Given the description of an element on the screen output the (x, y) to click on. 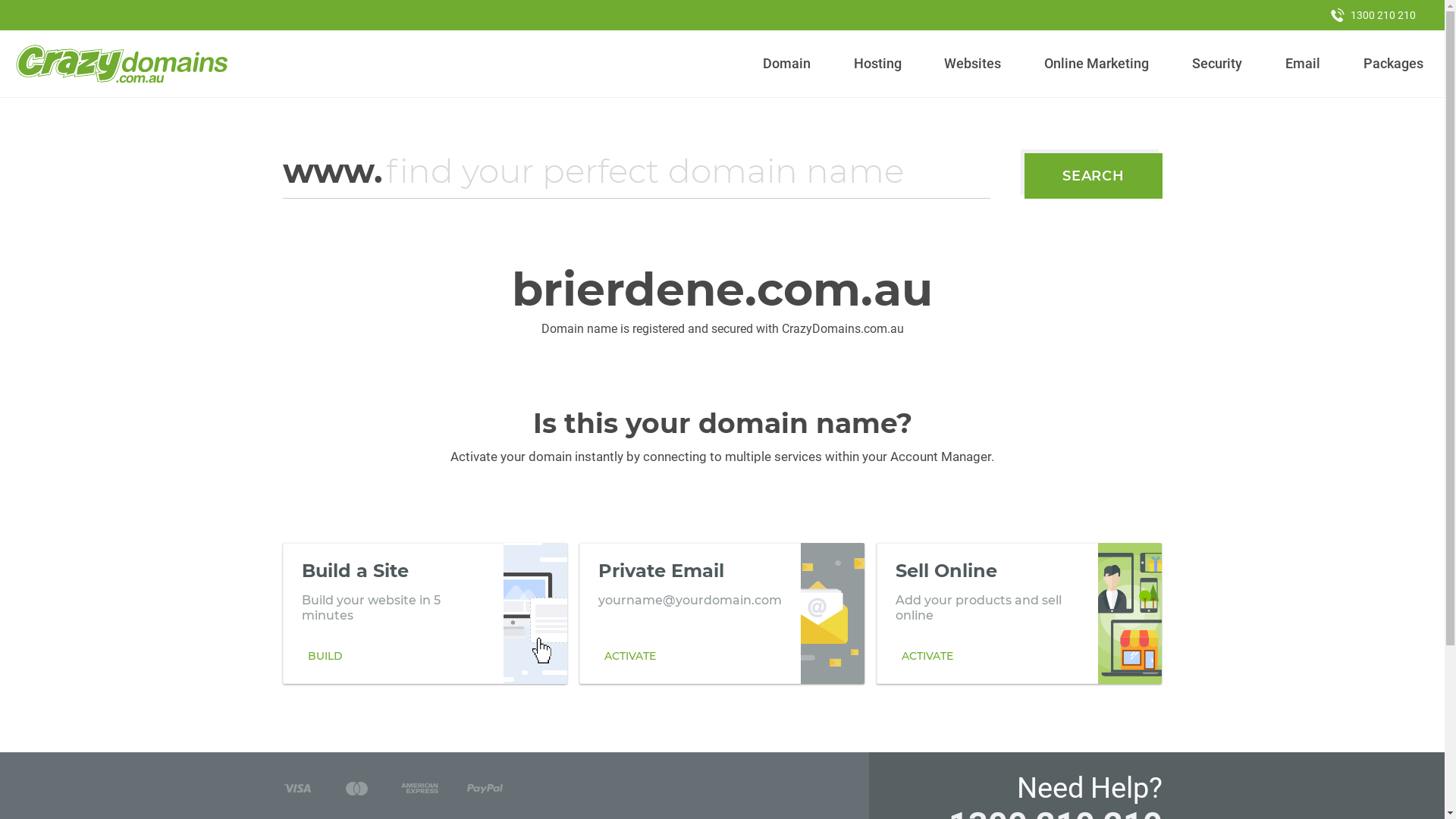
Websites Element type: text (972, 63)
Online Marketing Element type: text (1096, 63)
Build a Site
Build your website in 5 minutes
BUILD Element type: text (424, 613)
SEARCH Element type: text (1092, 175)
Private Email
yourname@yourdomain.com
ACTIVATE Element type: text (721, 613)
Packages Element type: text (1392, 63)
1300 210 210 Element type: text (1373, 15)
Domain Element type: text (786, 63)
Security Element type: text (1217, 63)
Email Element type: text (1302, 63)
Hosting Element type: text (877, 63)
Sell Online
Add your products and sell online
ACTIVATE Element type: text (1018, 613)
